Given the description of an element on the screen output the (x, y) to click on. 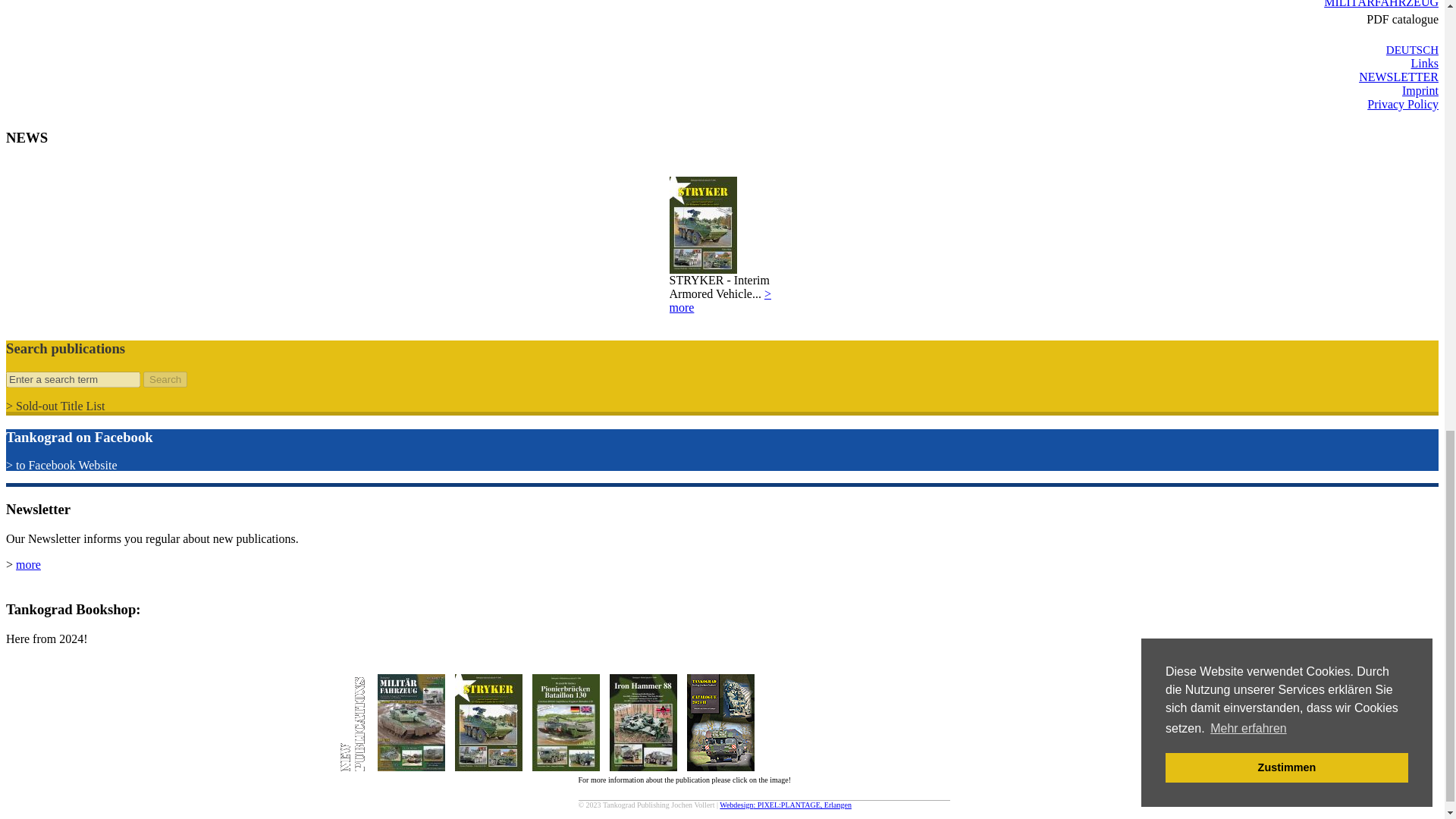
Enter a search term (72, 379)
Search (164, 379)
